Given the description of an element on the screen output the (x, y) to click on. 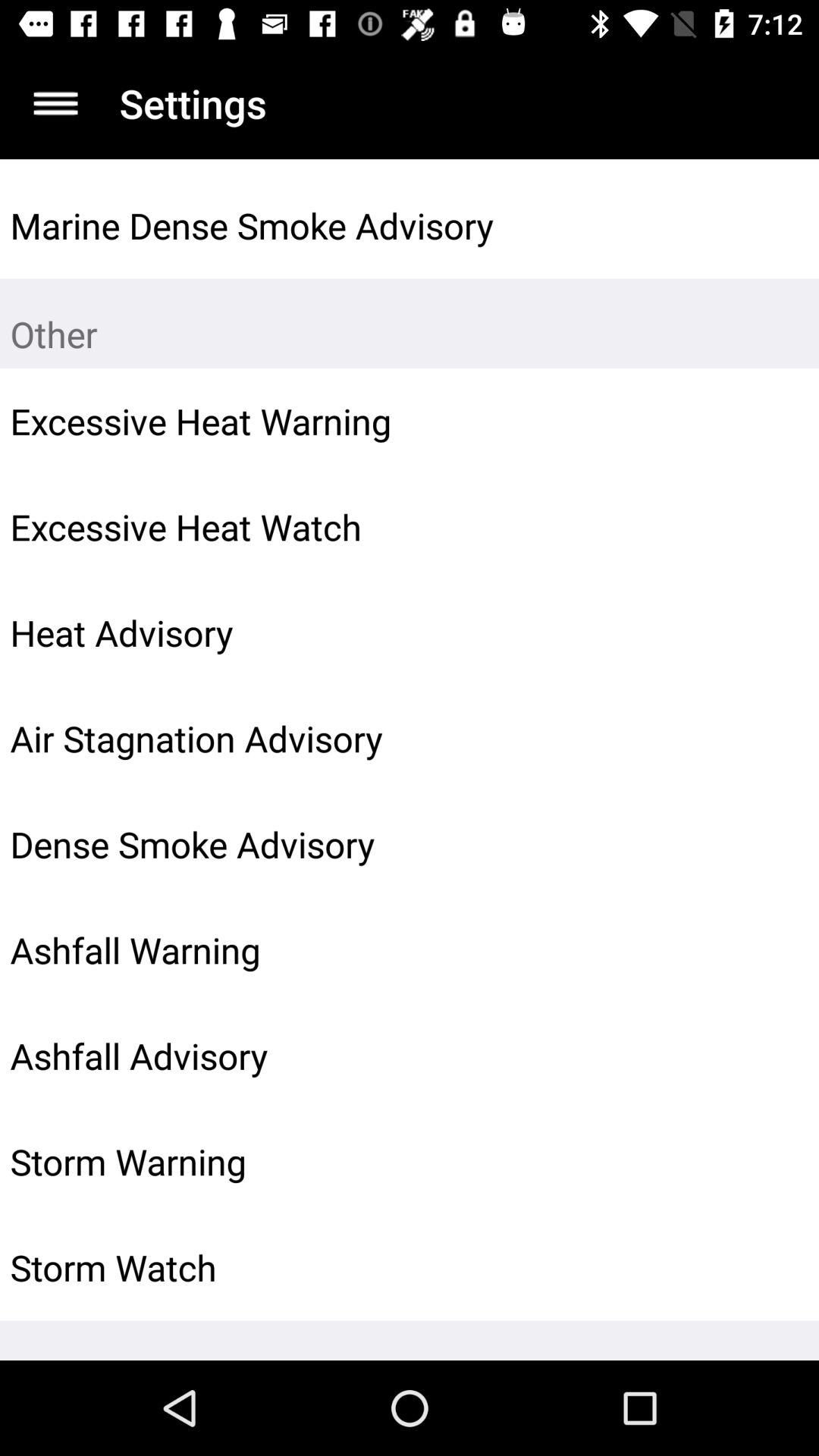
click icon to the right of marine dense smoke (771, 225)
